Given the description of an element on the screen output the (x, y) to click on. 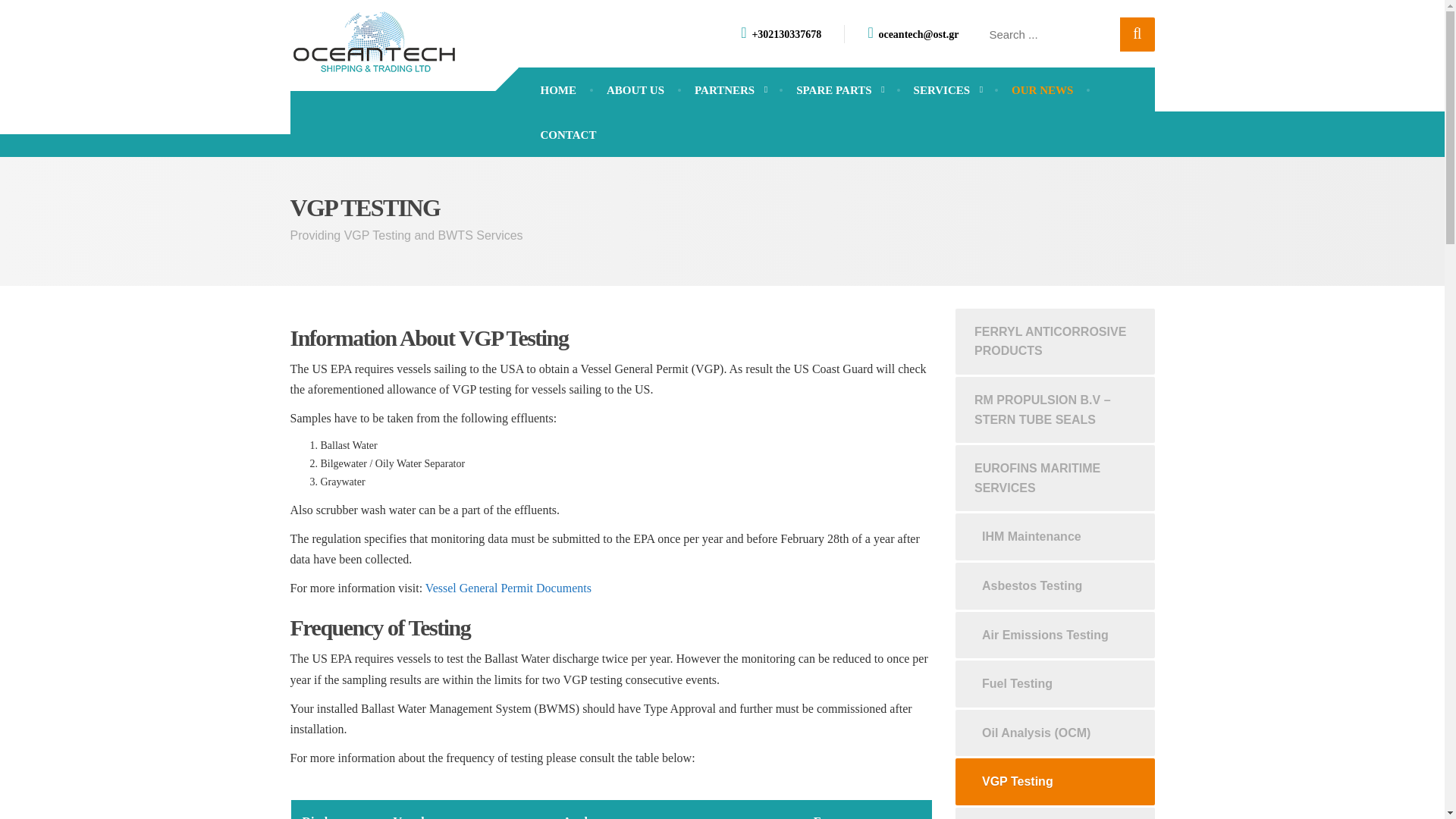
SPARE PARTS (839, 90)
ABOUT US (635, 90)
HOME (557, 90)
PARTNERS (729, 90)
